Given the description of an element on the screen output the (x, y) to click on. 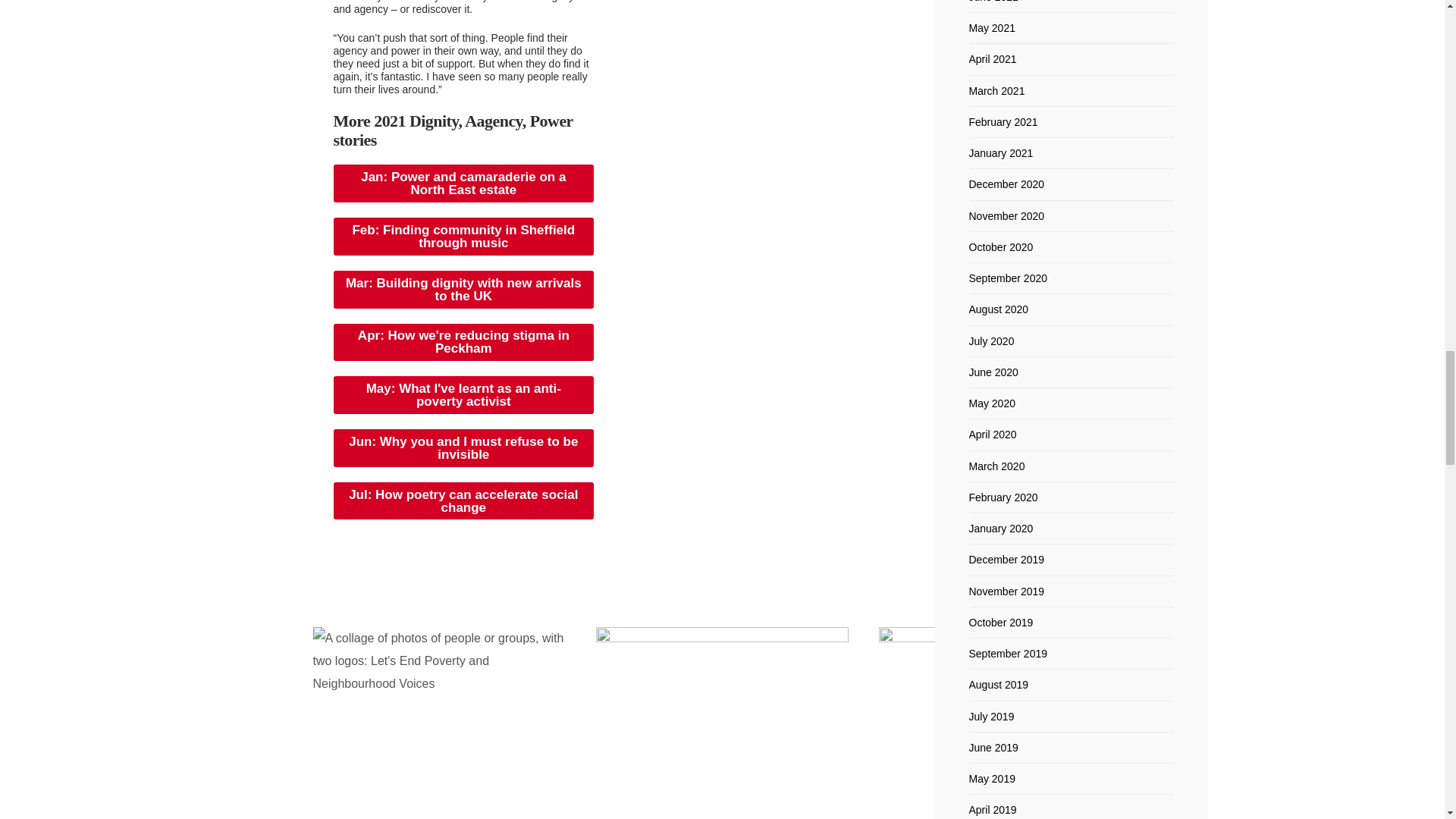
Apr: How we're reducing stigma in Peckham (463, 342)
Jun: Why you and I must refuse to be invisible (463, 447)
May: What I've learnt as an anti-poverty activist (463, 394)
Jul: How poetry can accelerate social change (463, 501)
Feb: Finding community in Sheffield through music (463, 236)
Mar: Building dignity with new arrivals to the UK (463, 289)
Jan: Power and camaraderie on a North East estate (463, 183)
